Given the description of an element on the screen output the (x, y) to click on. 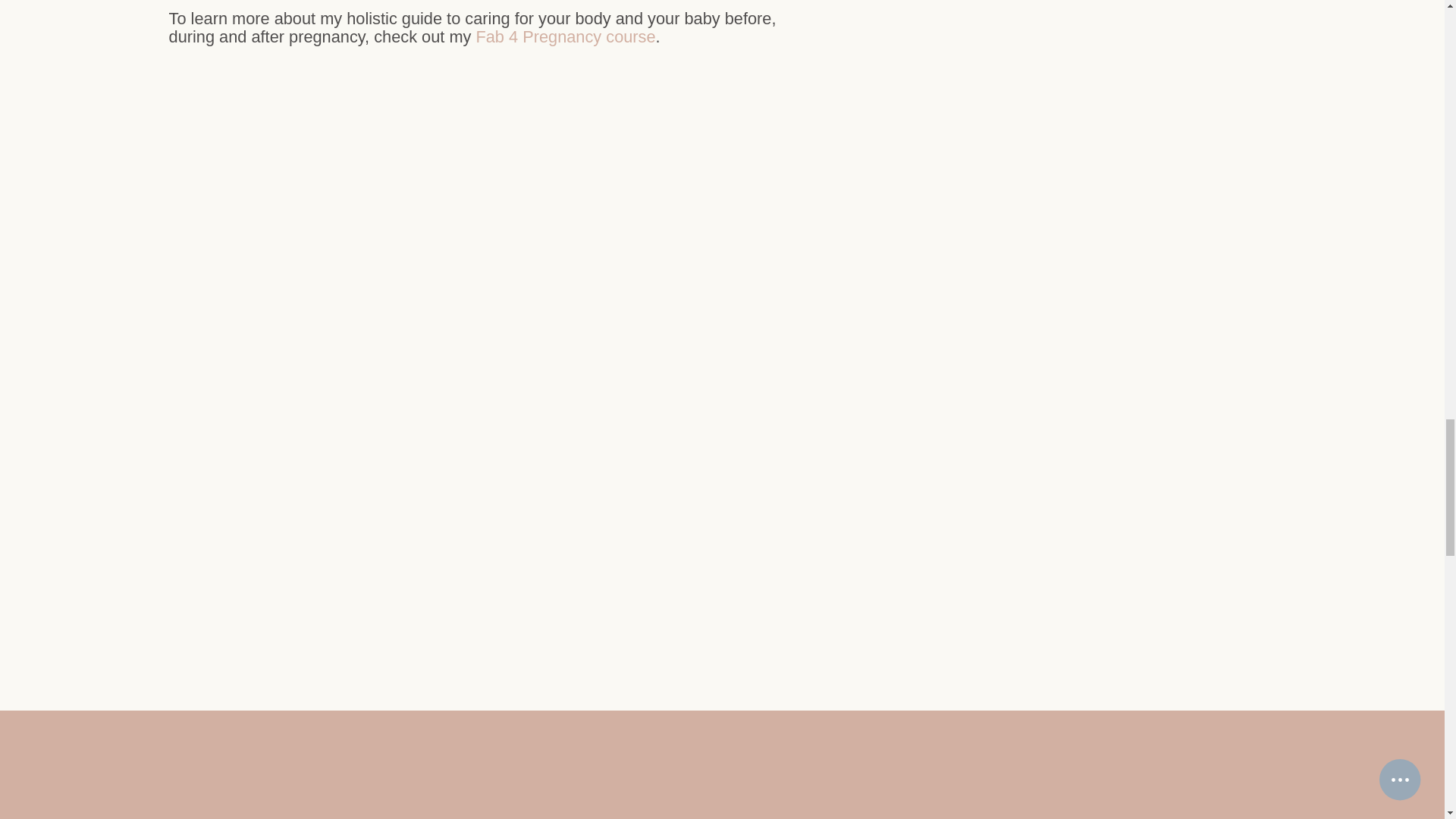
Fab 4 Pregnancy course (565, 36)
